Given the description of an element on the screen output the (x, y) to click on. 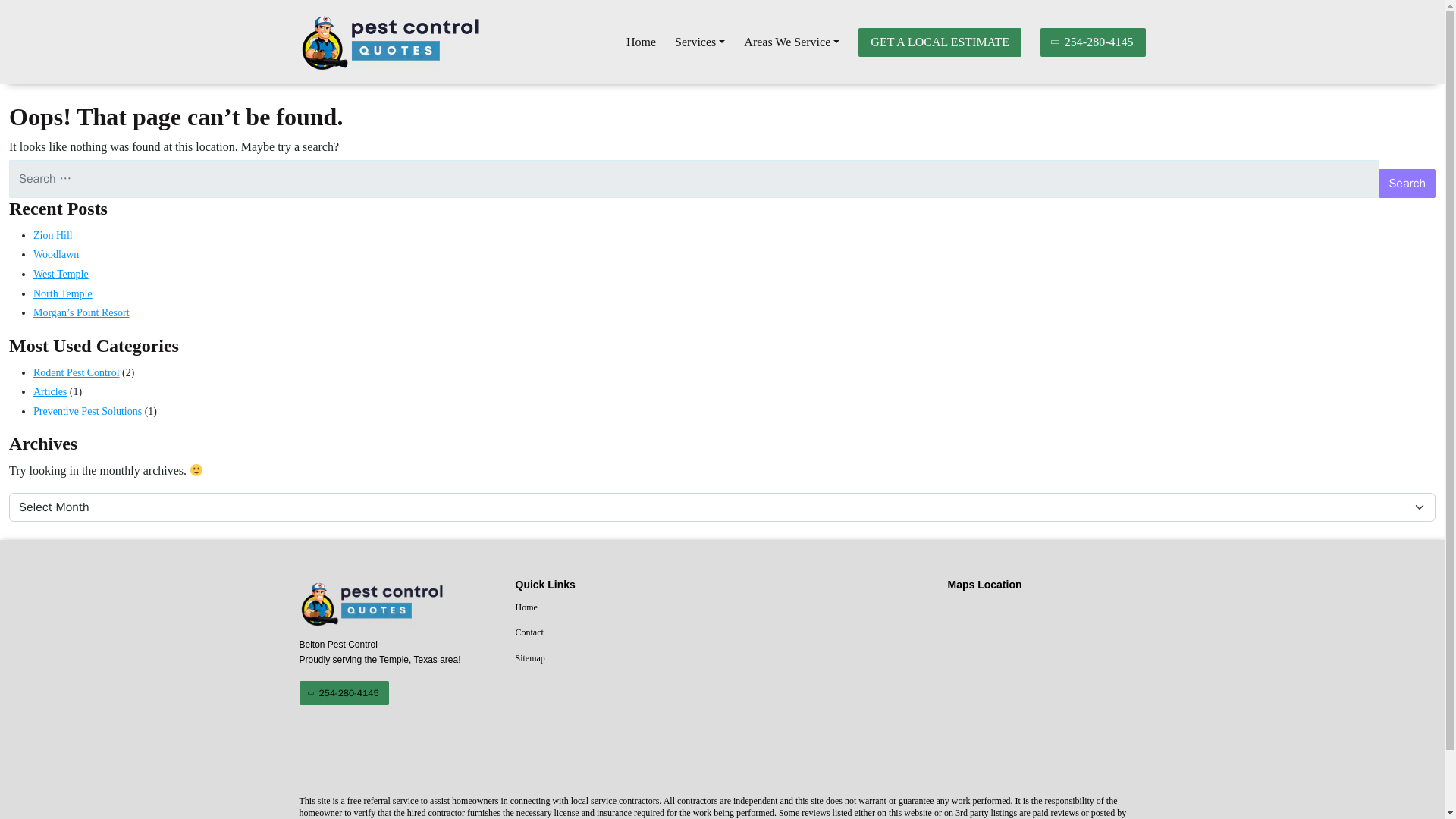
North Temple (63, 293)
Woodlawn (55, 254)
Areas We Service (792, 42)
Home (641, 42)
Services (700, 42)
Home (614, 608)
Zion Hill (52, 235)
Search (1406, 183)
Rodent Pest Control (76, 372)
254-280-4145 (343, 692)
